Given the description of an element on the screen output the (x, y) to click on. 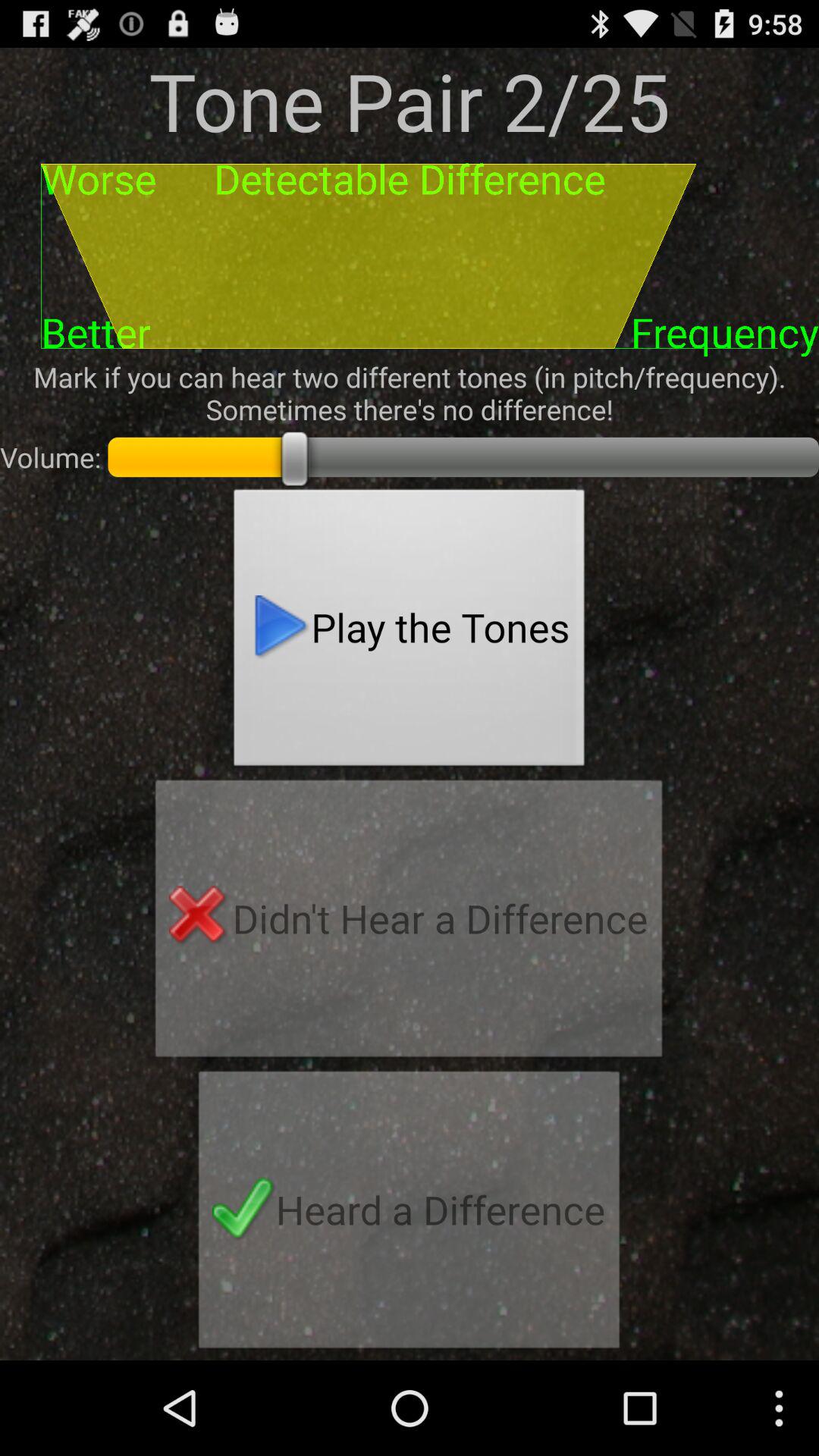
press didn t hear (408, 922)
